Given the description of an element on the screen output the (x, y) to click on. 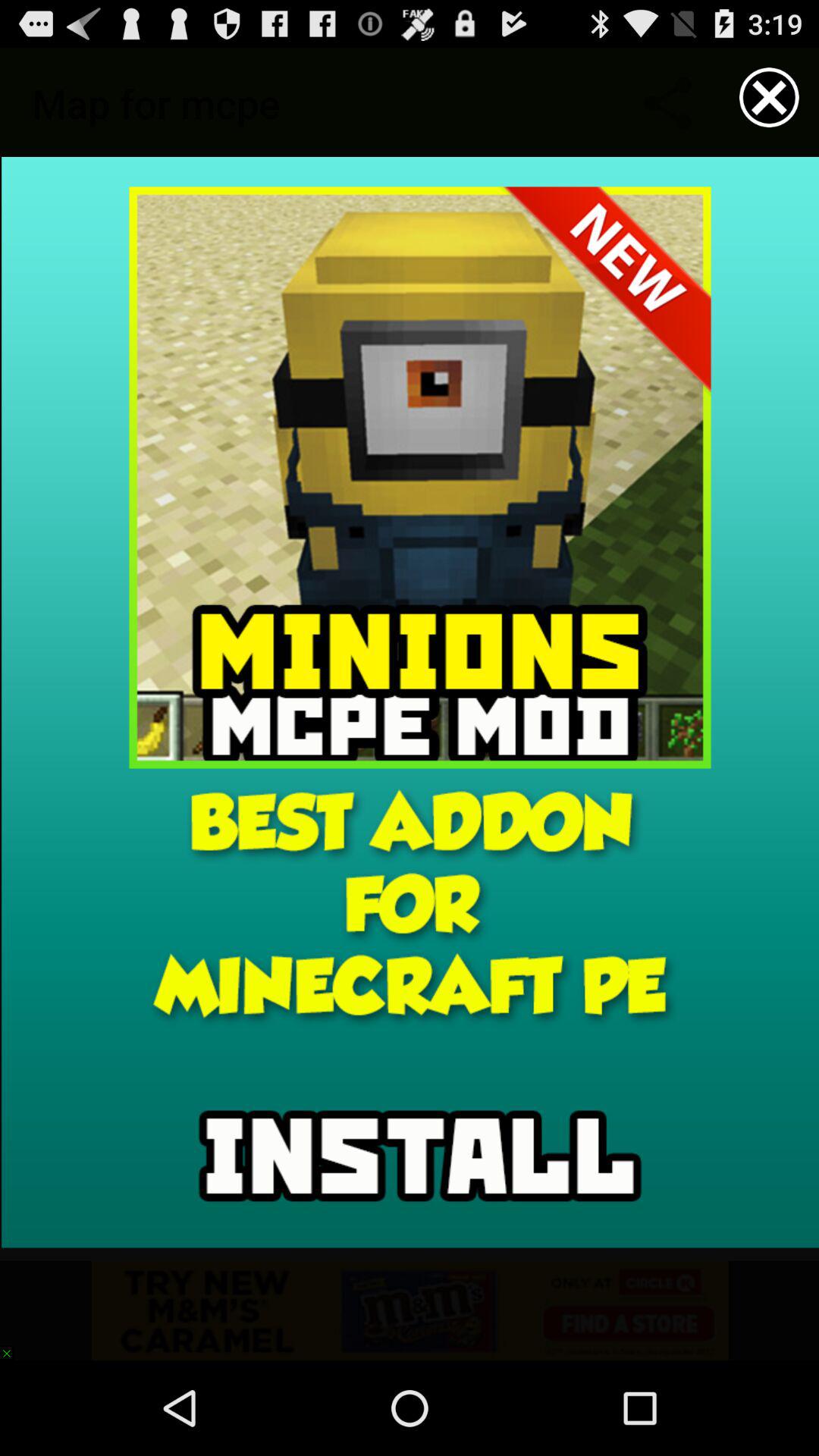
close (769, 97)
